Given the description of an element on the screen output the (x, y) to click on. 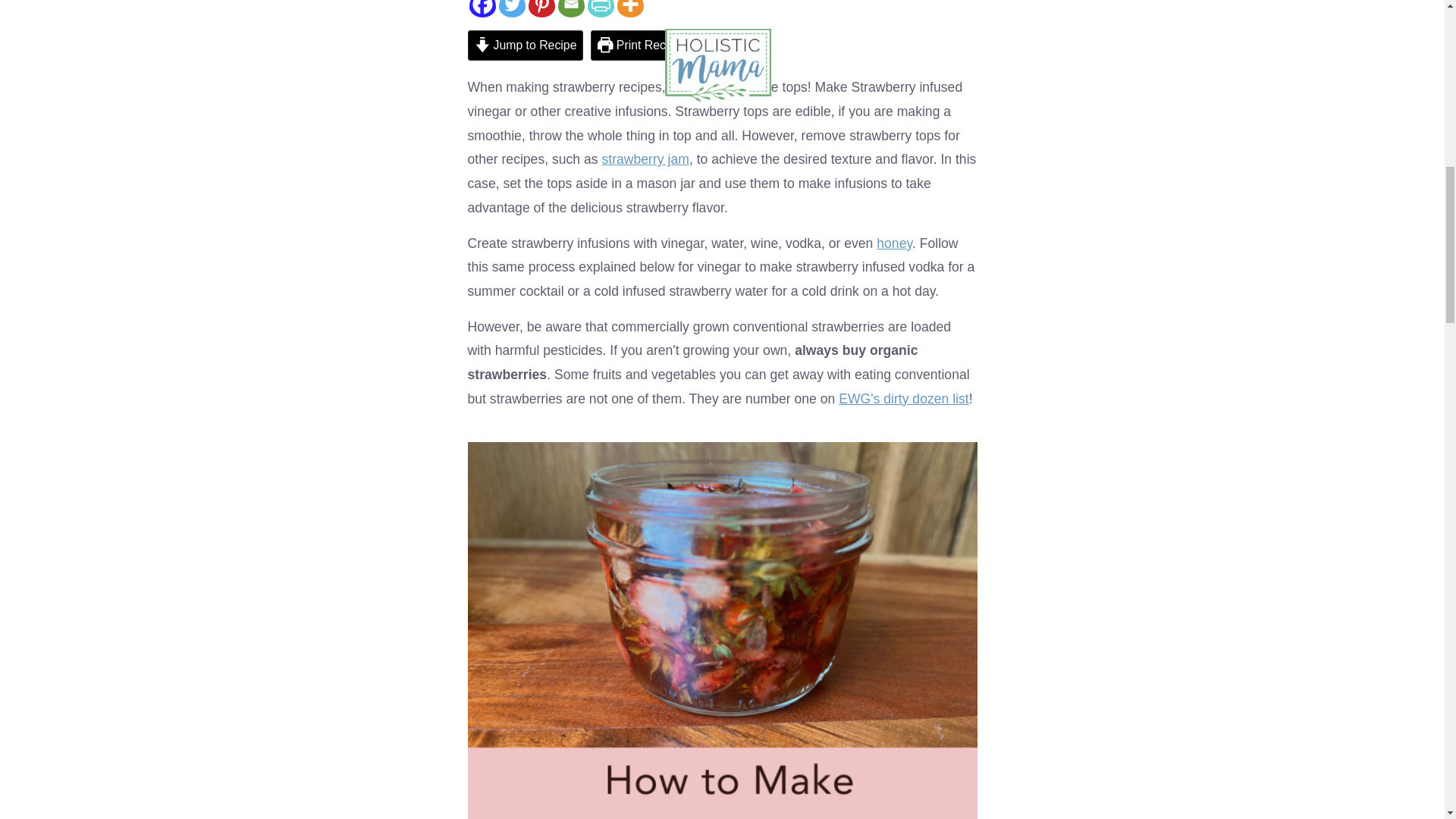
EWG's dirty dozen list (903, 398)
Jump to Recipe (525, 45)
Cape Cod Honey (894, 242)
strawberry jam (645, 159)
Email (571, 8)
3 (540, 8)
More (630, 8)
PrintFriendly (599, 8)
Facebook (481, 8)
Pinterest (540, 8)
honey (894, 242)
Print Recipe (639, 45)
Twitter (512, 8)
